Given the description of an element on the screen output the (x, y) to click on. 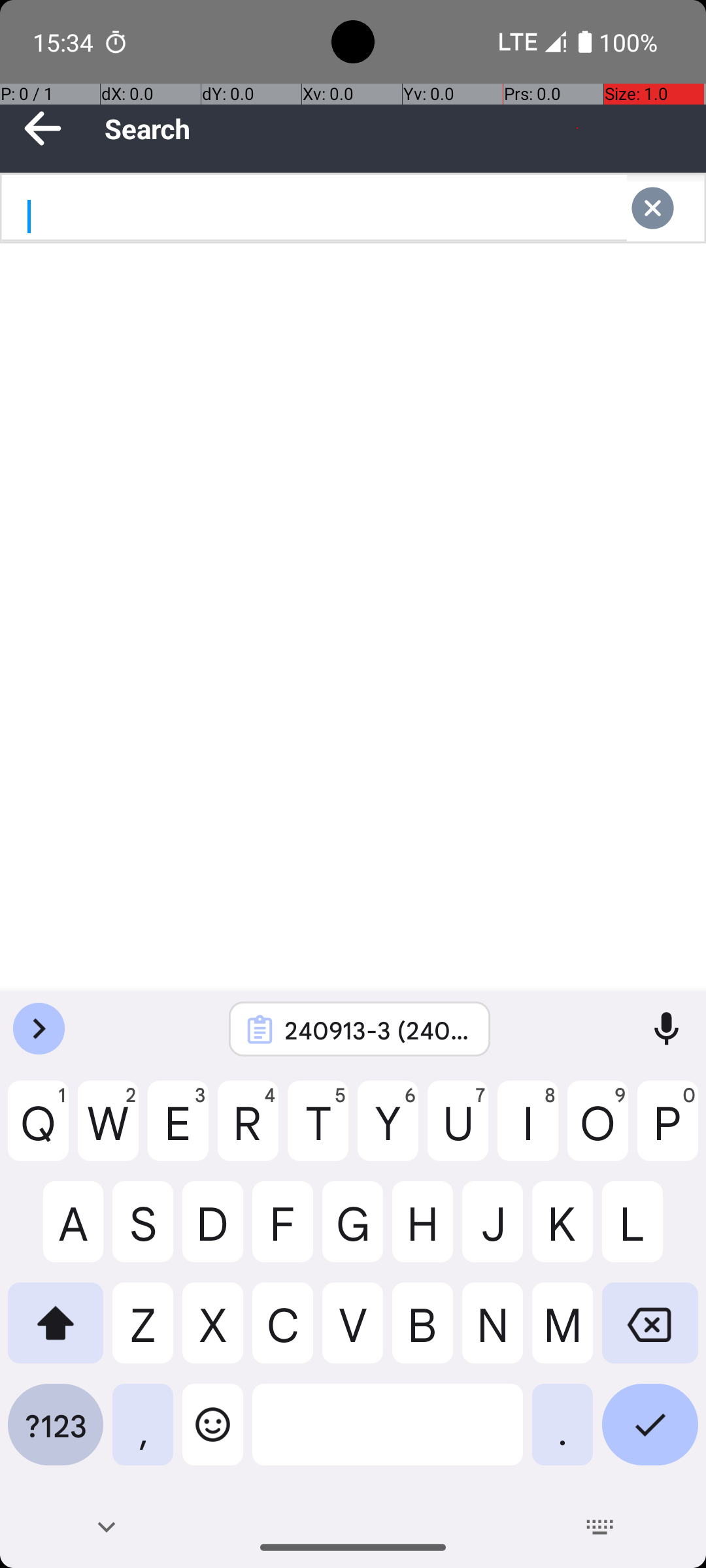
 Element type: android.widget.TextView (665, 207)
240913-3 (240906-2的from base对照组) Element type: android.widget.TextView (376, 1029)
